Given the description of an element on the screen output the (x, y) to click on. 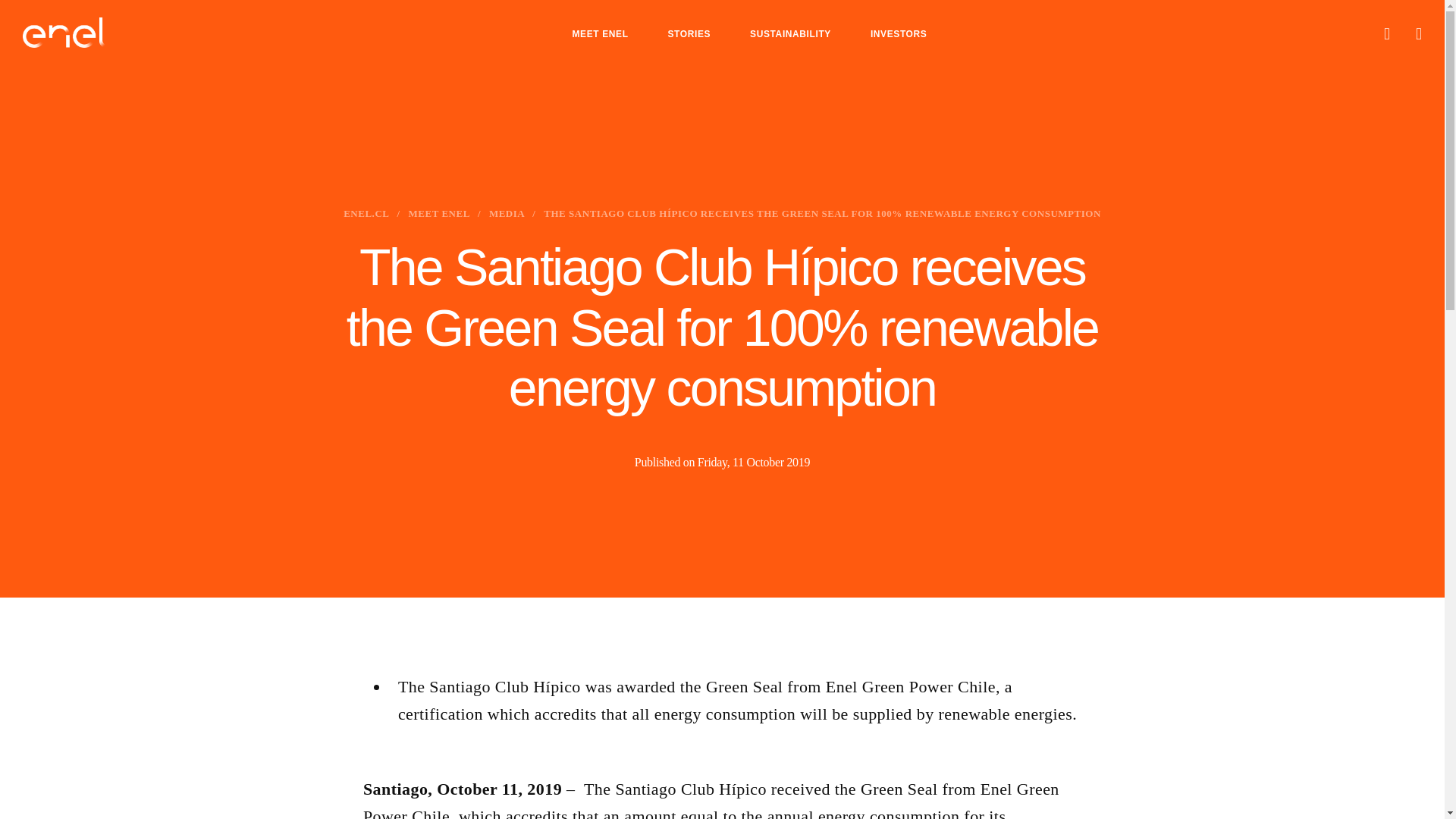
STORIES (688, 33)
INVESTORS (899, 33)
Ir a la pagina enel.cl. (365, 213)
MEET ENEL (599, 33)
Ir a la pagina Media. (506, 213)
SUSTAINABILITY (790, 33)
Ir al inicio del sitio. (63, 32)
Ir a la pagina Meet Enel. (437, 213)
